Given the description of an element on the screen output the (x, y) to click on. 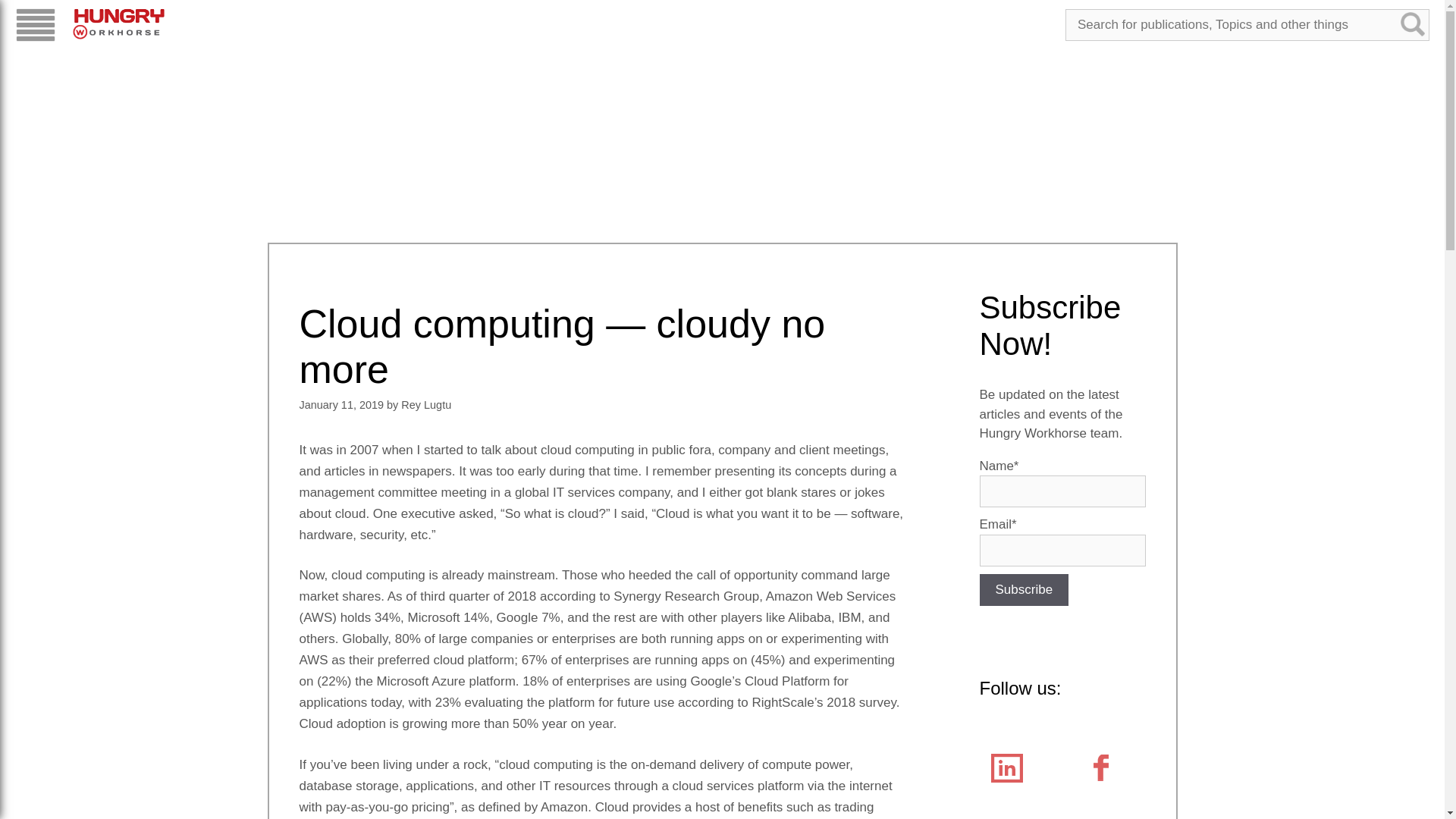
Subscribe (1023, 590)
Rey Lugtu (426, 404)
Subscribe (1023, 590)
View all posts by Rey Lugtu (426, 404)
